Given the description of an element on the screen output the (x, y) to click on. 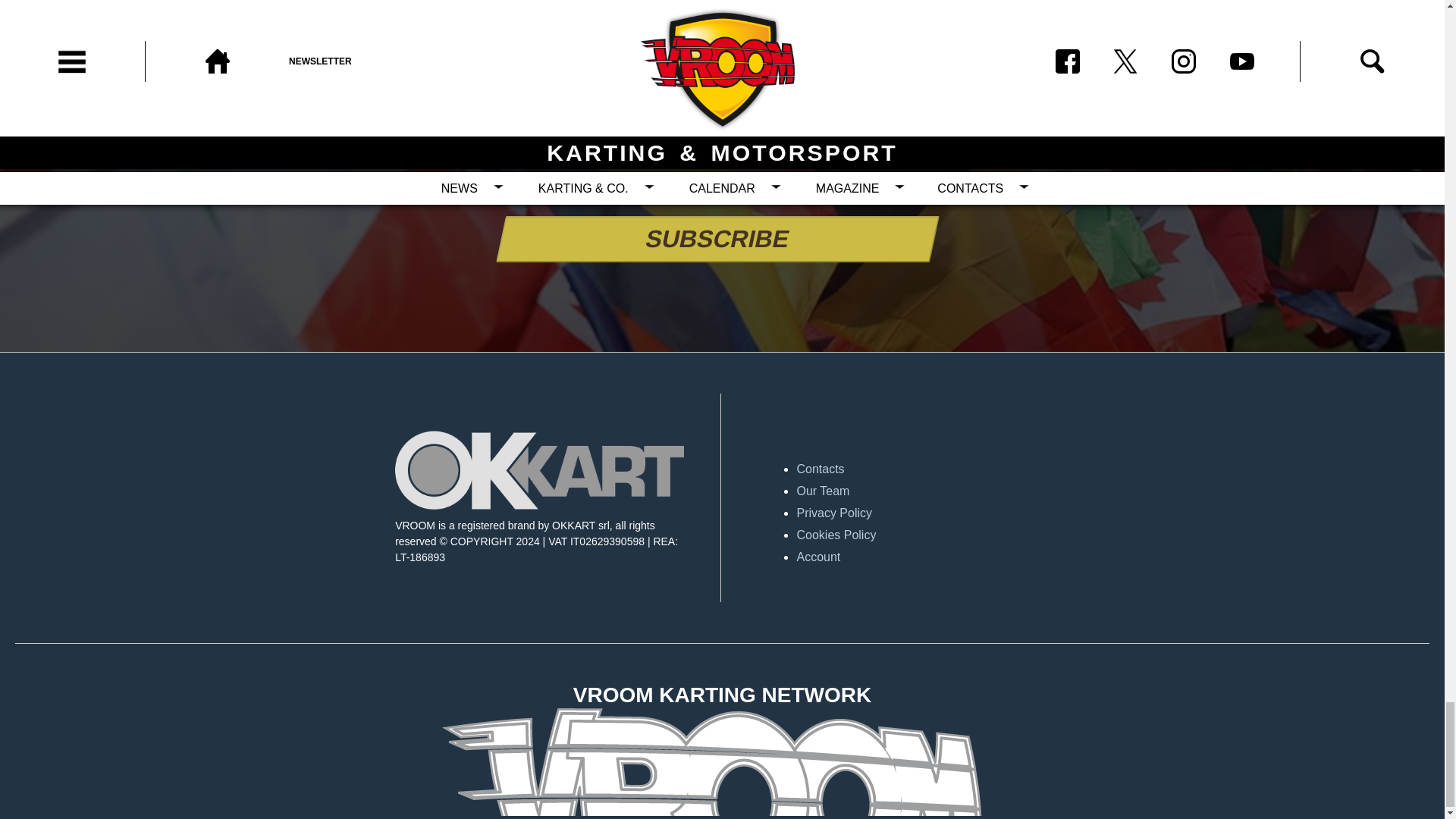
Our Team (940, 491)
Contacts (940, 469)
Subscribe (713, 239)
2 (622, 186)
